Given the description of an element on the screen output the (x, y) to click on. 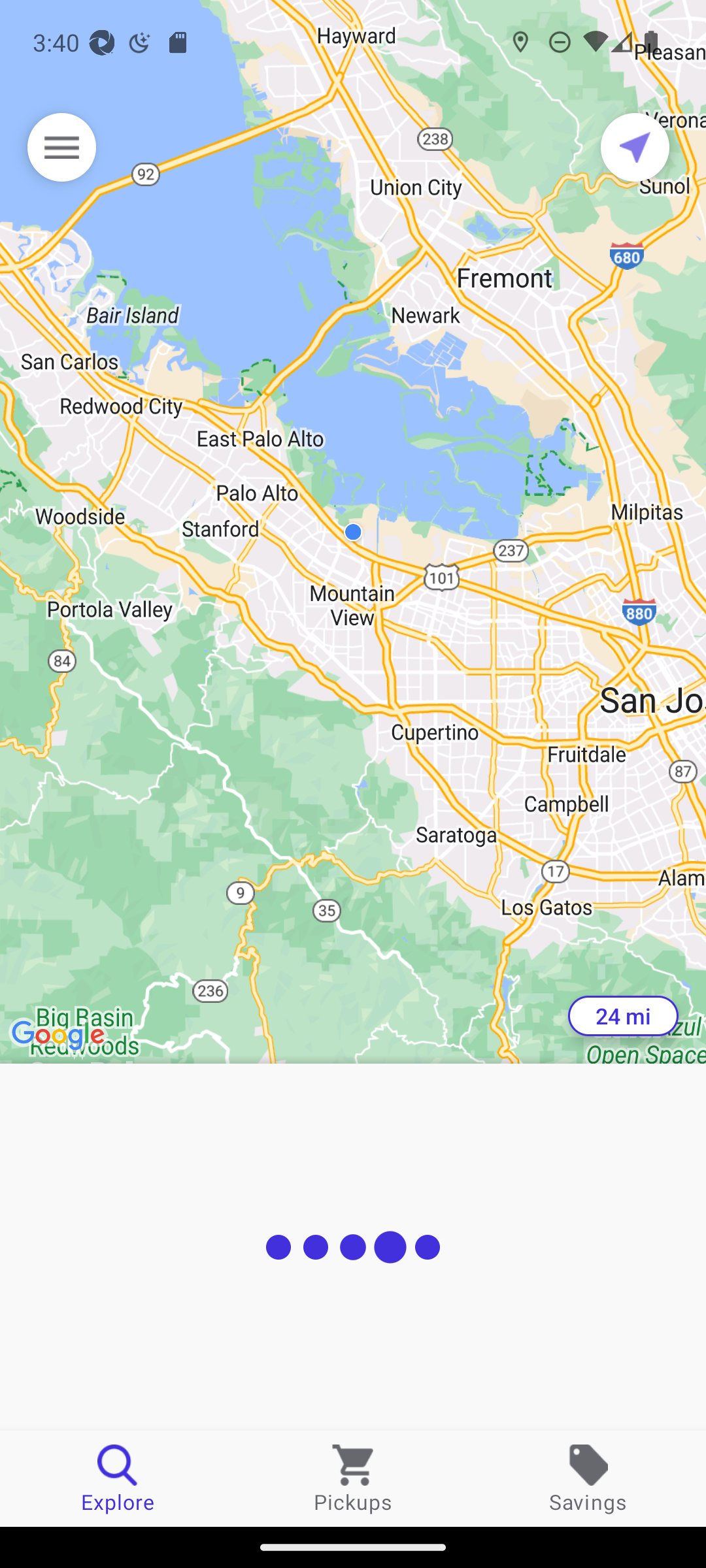
Menu (61, 146)
Current location (634, 146)
24 mi (623, 1015)
Pickups (352, 1478)
Savings (588, 1478)
